Given the description of an element on the screen output the (x, y) to click on. 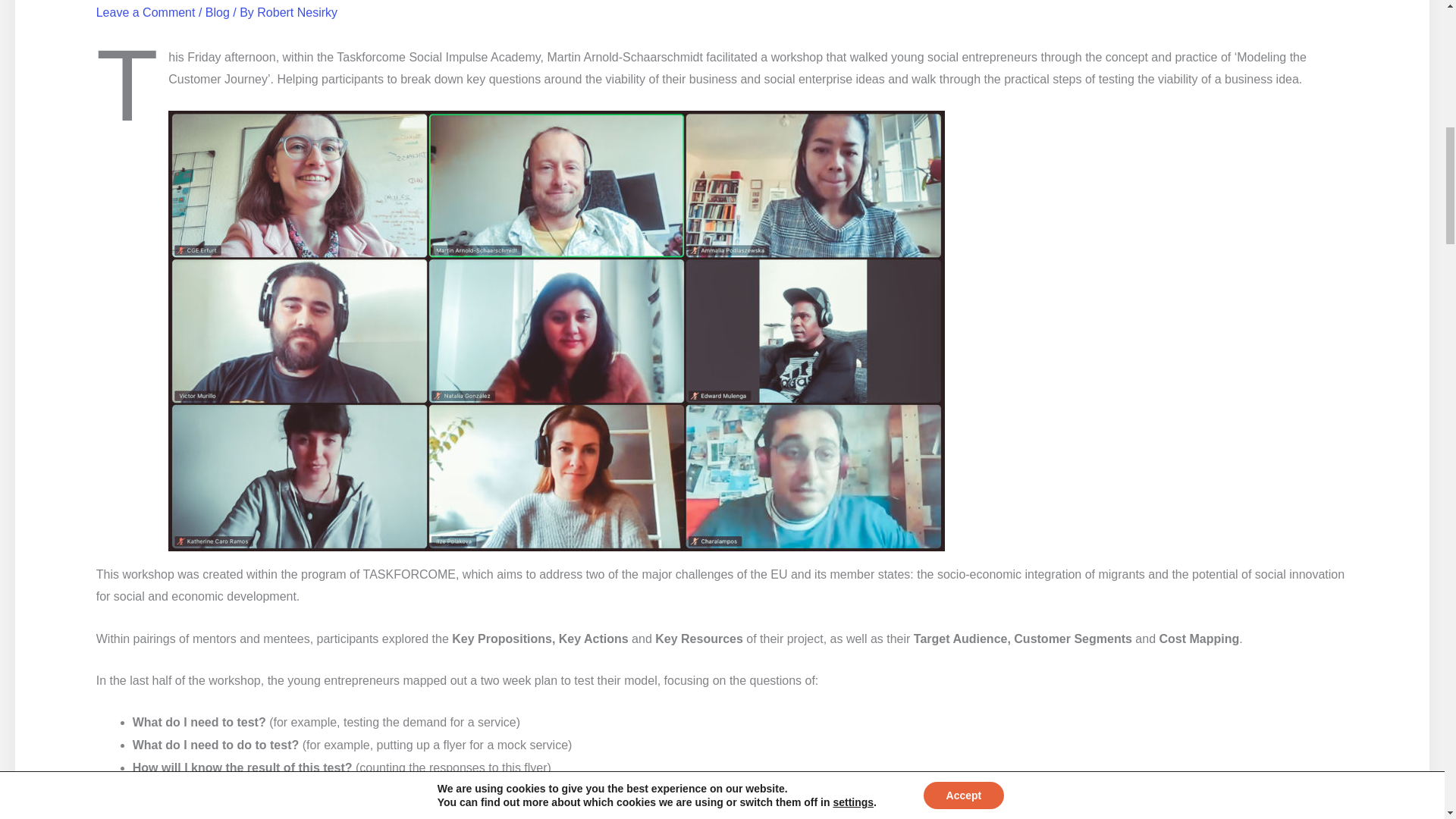
View all posts by Robert Nesirky (297, 11)
Leave a Comment (145, 11)
Blog (217, 11)
Robert Nesirky (297, 11)
